Given the description of an element on the screen output the (x, y) to click on. 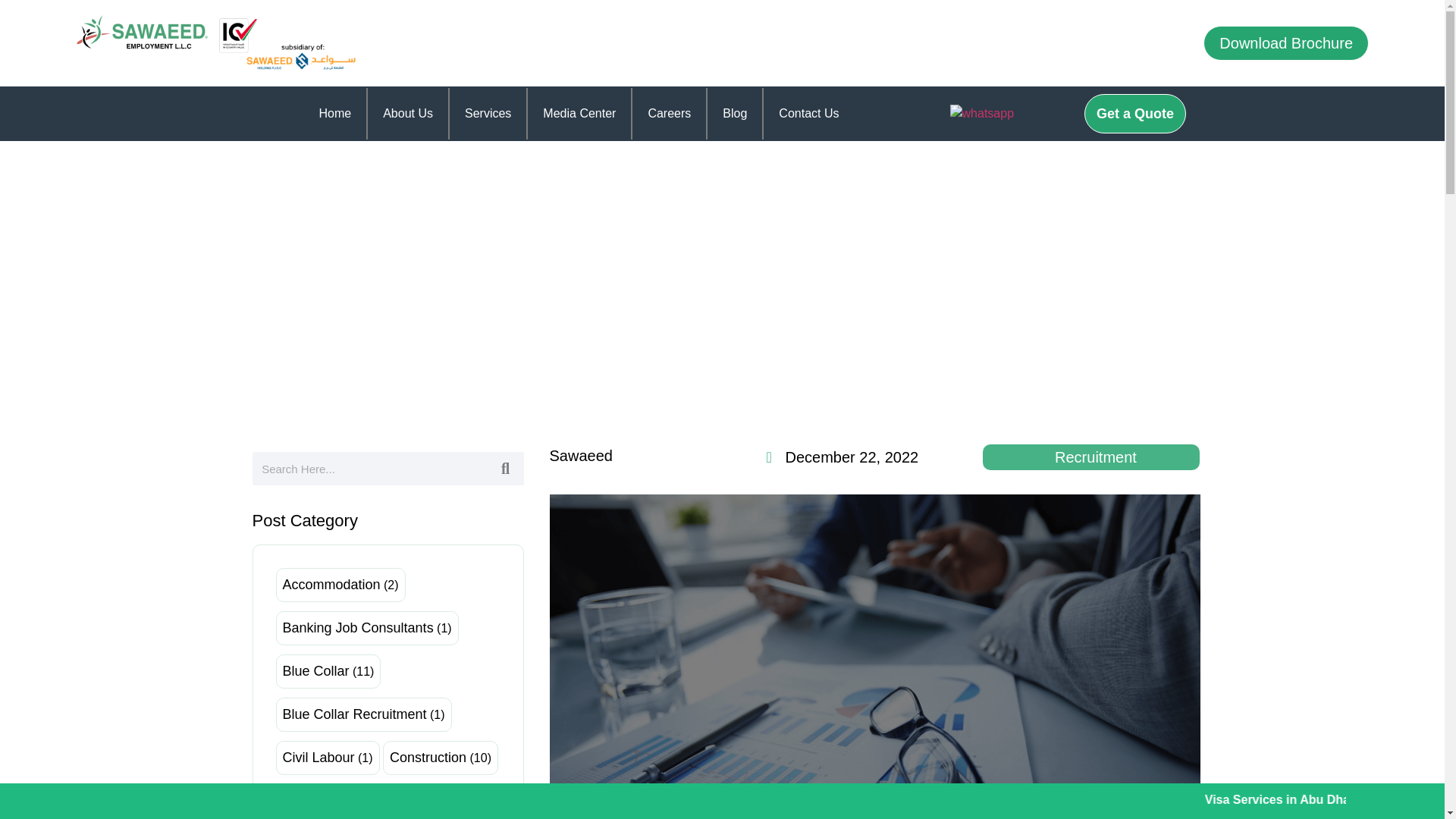
Services (487, 113)
Media Center (578, 113)
Blog (734, 113)
Download Brochure (1286, 42)
Careers (668, 113)
About Us (408, 113)
Home (334, 113)
Contact Us (807, 113)
